Given the description of an element on the screen output the (x, y) to click on. 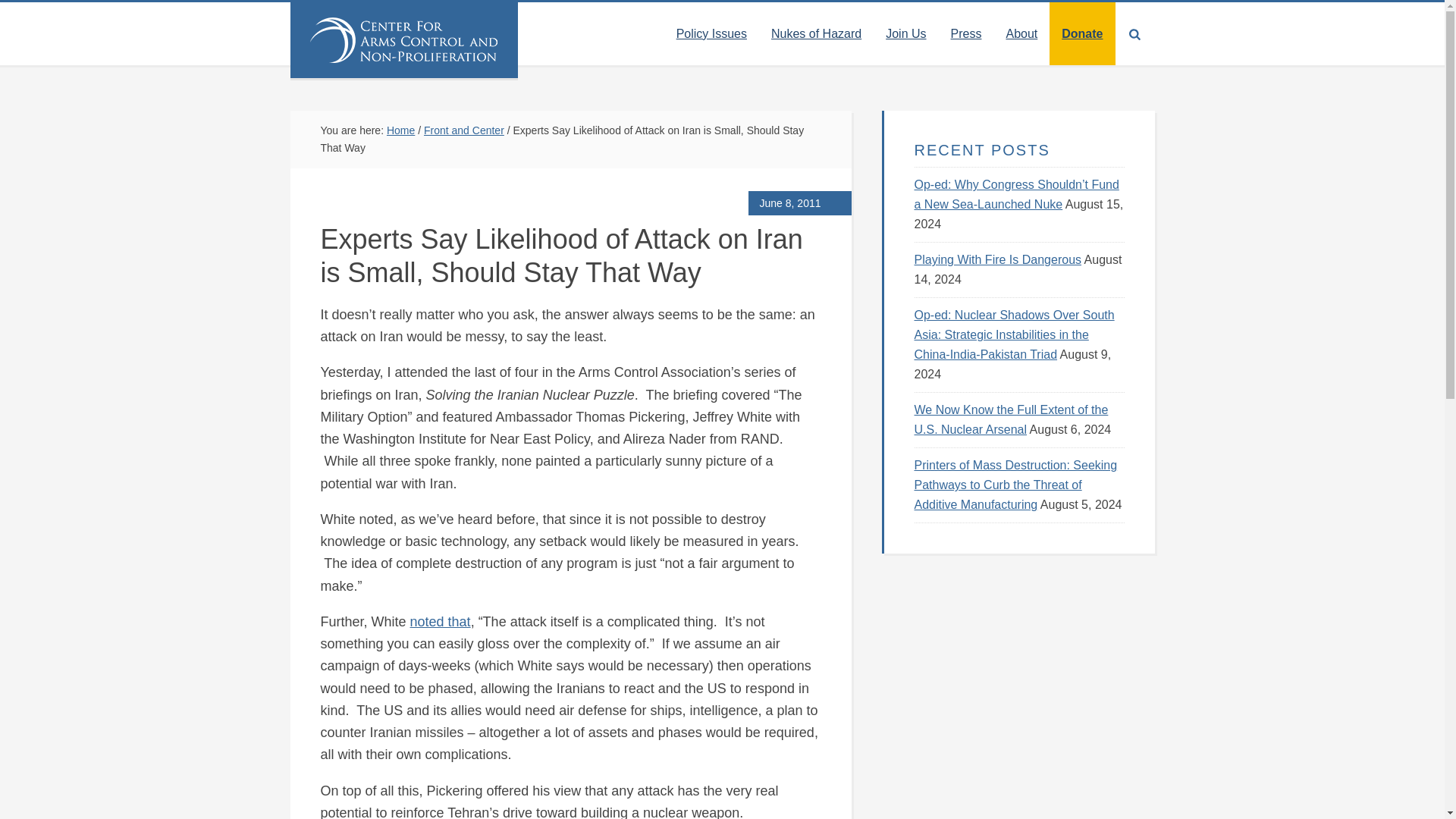
Join Us (905, 33)
About (1020, 33)
Nukes of Hazard (815, 33)
Policy Issues (710, 33)
We Now Know the Full Extent of the U.S. Nuclear Arsenal (1011, 419)
Home (400, 130)
Playing With Fire Is Dangerous (997, 259)
Donate (1082, 33)
noted that (440, 621)
